Given the description of an element on the screen output the (x, y) to click on. 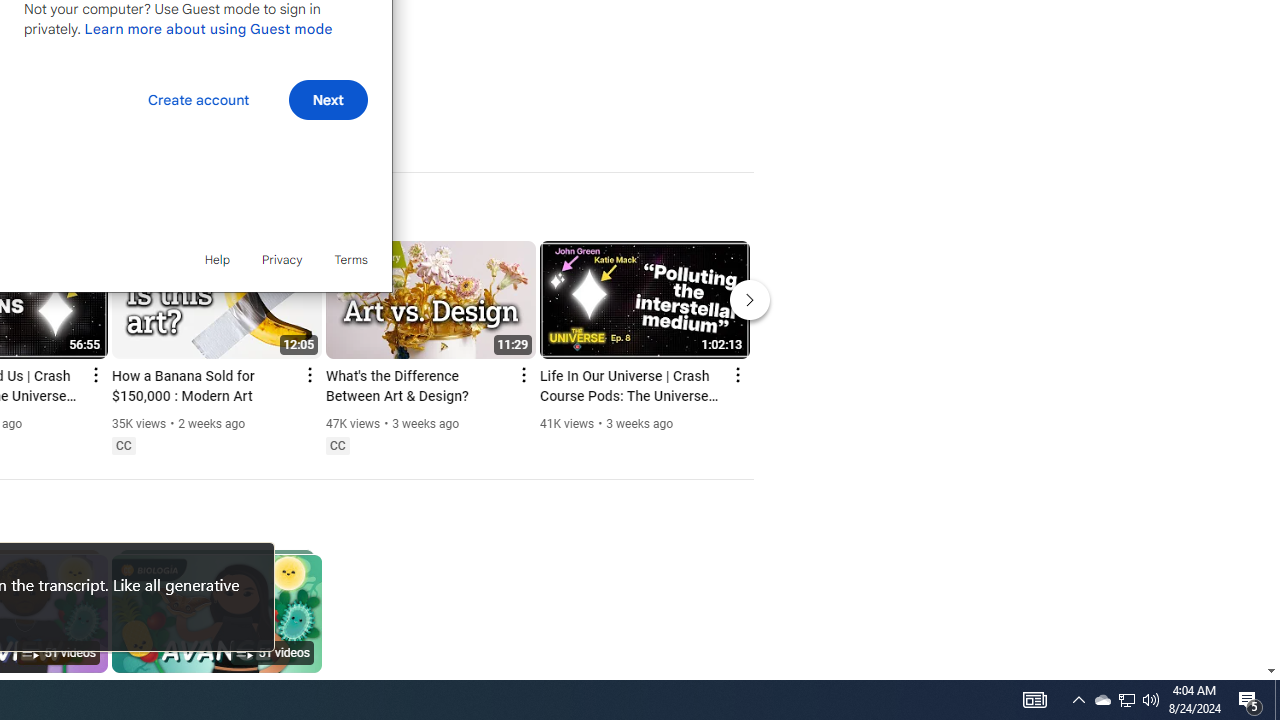
Show desktop (1277, 699)
Notification Chevron (1078, 699)
Closed captions (1102, 699)
User Promoted Notification Area (337, 446)
Q2790: 100% (1126, 699)
